Given the description of an element on the screen output the (x, y) to click on. 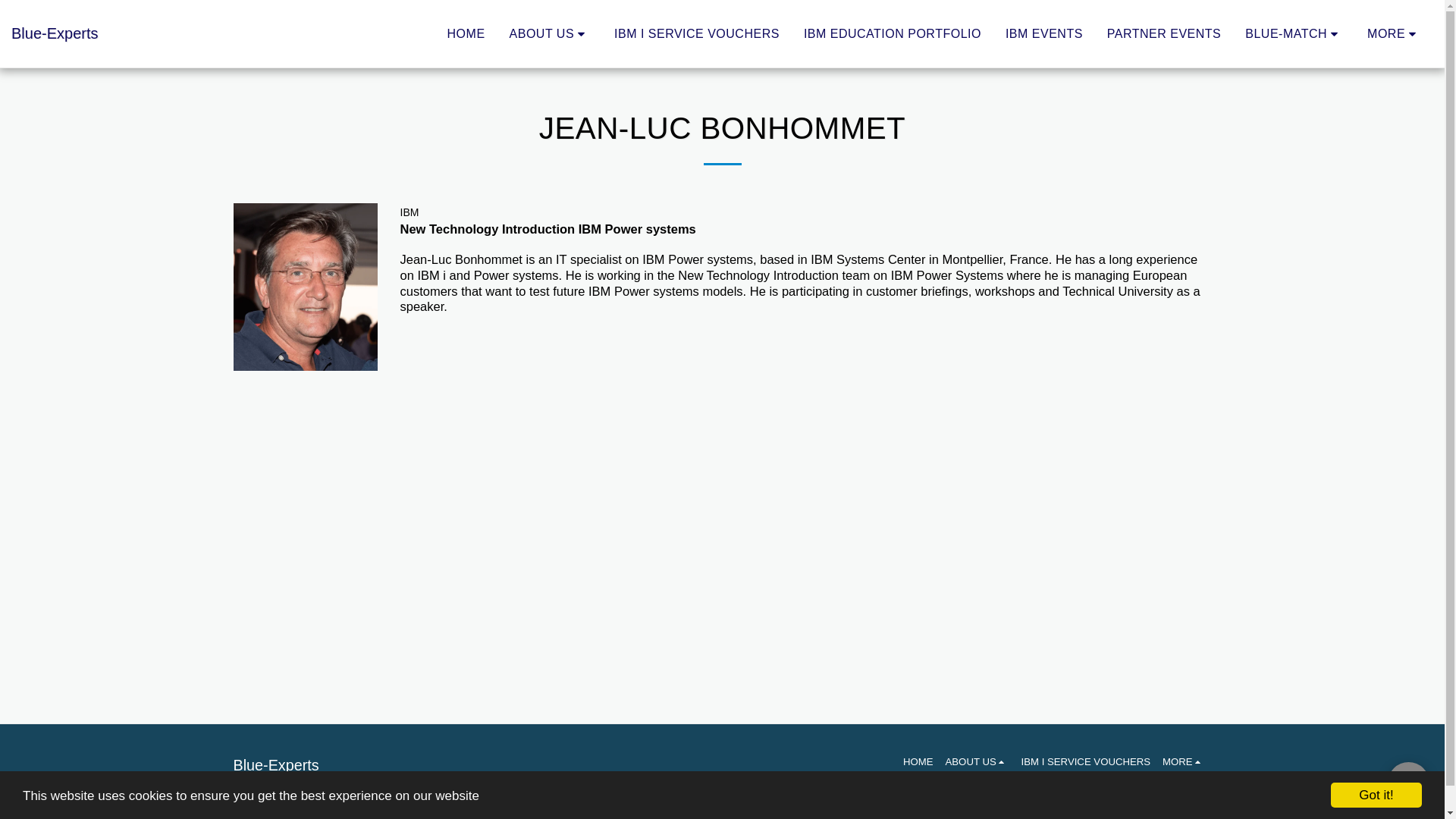
BLUE-MATCH   (1293, 33)
IBM EVENTS (1044, 33)
IBM I SERVICE VOUCHERS (696, 33)
Blue-Experts (55, 33)
ABOUT US   (549, 33)
MORE   (1393, 33)
IBM EDUCATION PORTFOLIO (892, 33)
HOME (465, 33)
PARTNER EVENTS (1163, 33)
